Given the description of an element on the screen output the (x, y) to click on. 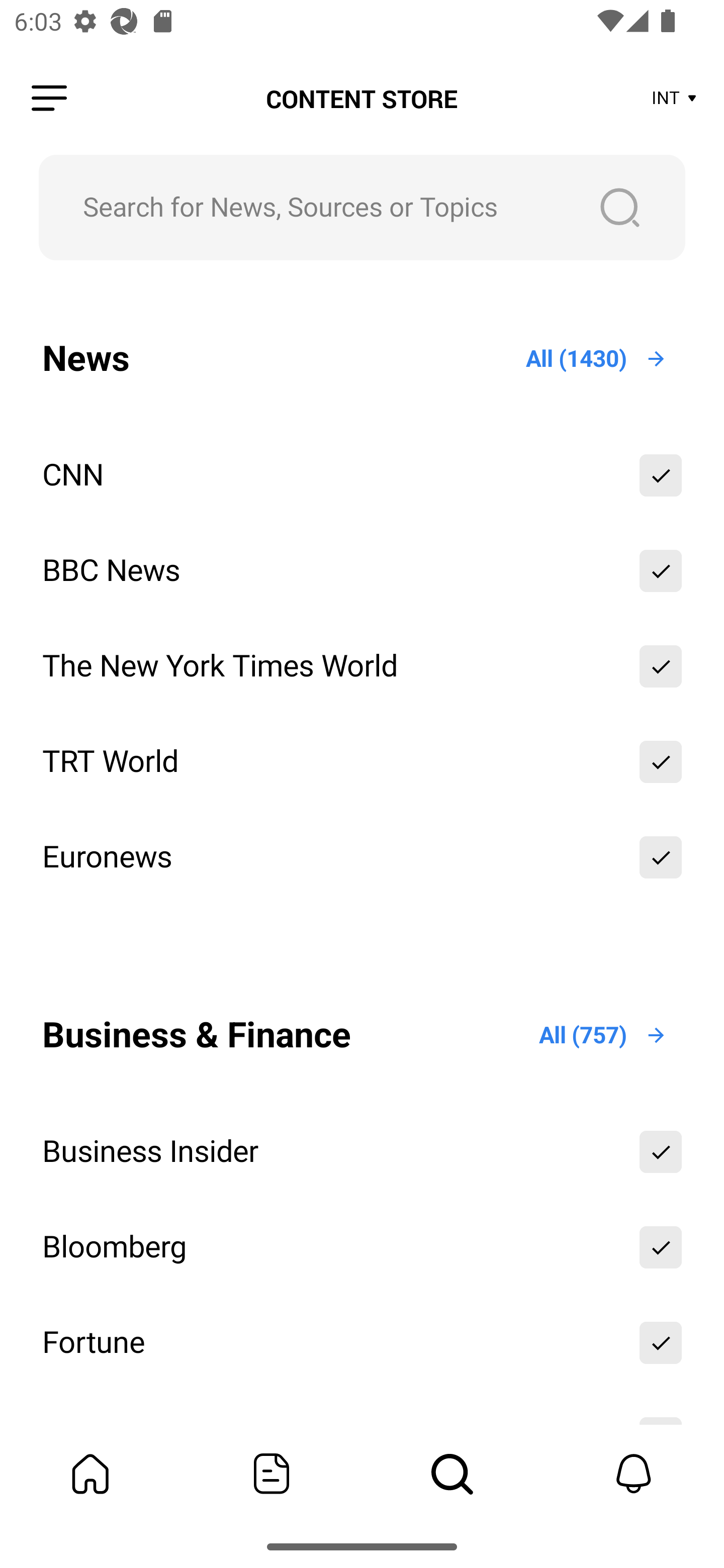
INT Store Area (674, 98)
Leading Icon (49, 98)
Search for News, Sources or Topics Search Button (361, 207)
All (1430) Open All Icon (596, 358)
CNN Add To My Bundle (361, 474)
Add To My Bundle (660, 474)
BBC News Add To My Bundle (361, 570)
Add To My Bundle (660, 570)
The New York Times World Add To My Bundle (361, 666)
Add To My Bundle (660, 666)
TRT World Add To My Bundle (361, 761)
Add To My Bundle (660, 761)
Euronews Add To My Bundle (361, 857)
Add To My Bundle (660, 857)
All (757) Open All Icon (603, 1034)
Business Insider Add To My Bundle (361, 1152)
Add To My Bundle (660, 1152)
Bloomberg Add To My Bundle (361, 1246)
Add To My Bundle (660, 1246)
Fortune Add To My Bundle (361, 1341)
Add To My Bundle (660, 1341)
My Bundle (90, 1473)
Featured (271, 1473)
Notifications (633, 1473)
